Given the description of an element on the screen output the (x, y) to click on. 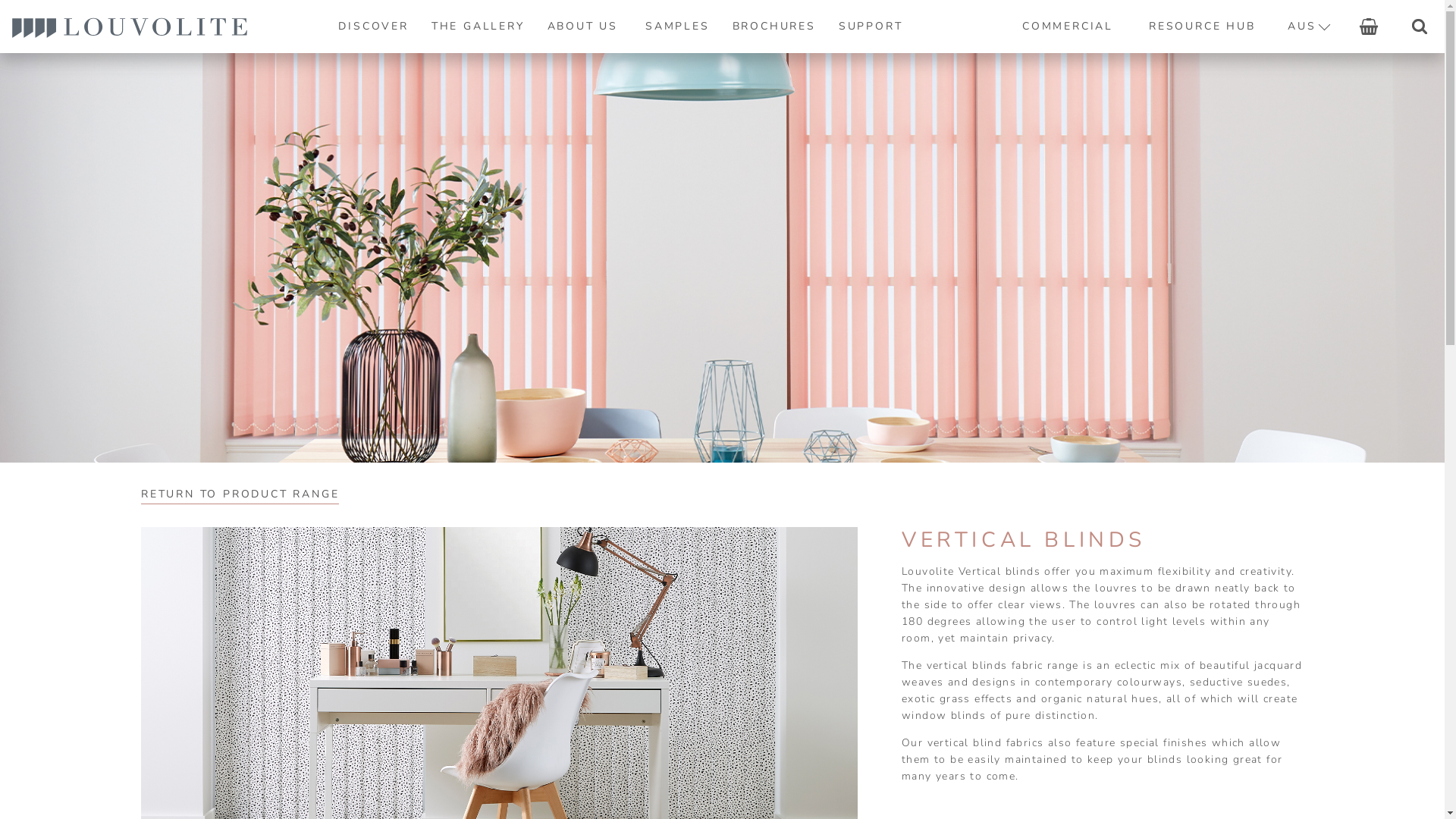
DISCOVER Element type: text (372, 26)
Louvolite Element type: hover (129, 26)
SAMPLES Element type: text (677, 26)
RESOURCE HUB Element type: text (1201, 26)
View your shopping basket Element type: hover (1368, 26)
ABOUT US Element type: text (584, 26)
BROCHURES Element type: text (773, 26)
AUS Element type: text (1308, 26)
Basket icon Element type: hover (1368, 26)
RETURN TO PRODUCT RANGE Element type: text (239, 494)
THE GALLERY Element type: text (477, 26)
COMMERCIAL Element type: text (1067, 26)
Search icon Element type: hover (1419, 26)
Search Element type: hover (1418, 26)
SUPPORT Element type: text (870, 26)
